Given the description of an element on the screen output the (x, y) to click on. 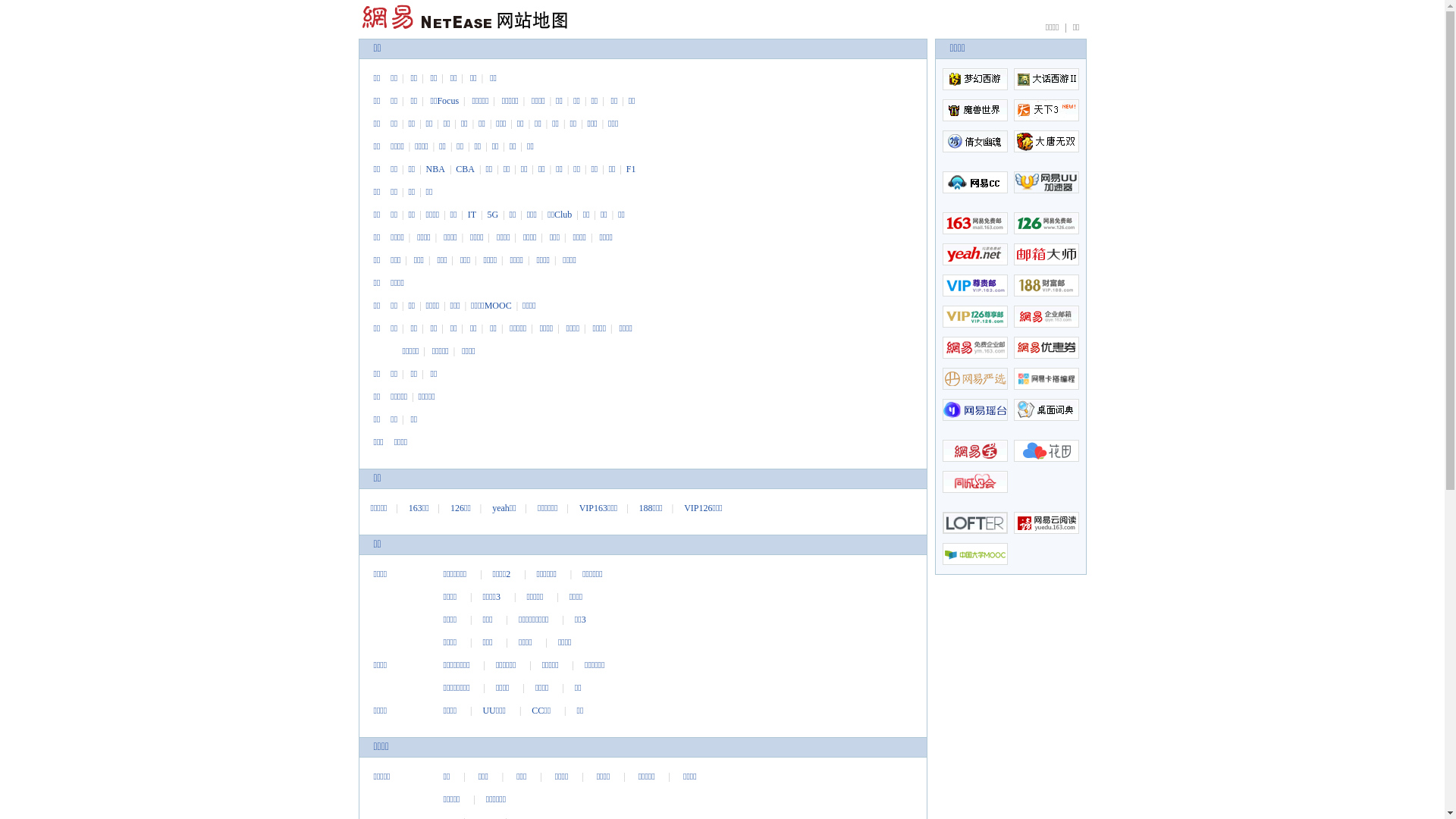
F1 Element type: text (630, 168)
IT Element type: text (471, 214)
CBA Element type: text (465, 168)
NBA Element type: text (435, 168)
5G Element type: text (492, 214)
LOFTER Element type: hover (974, 522)
